Given the description of an element on the screen output the (x, y) to click on. 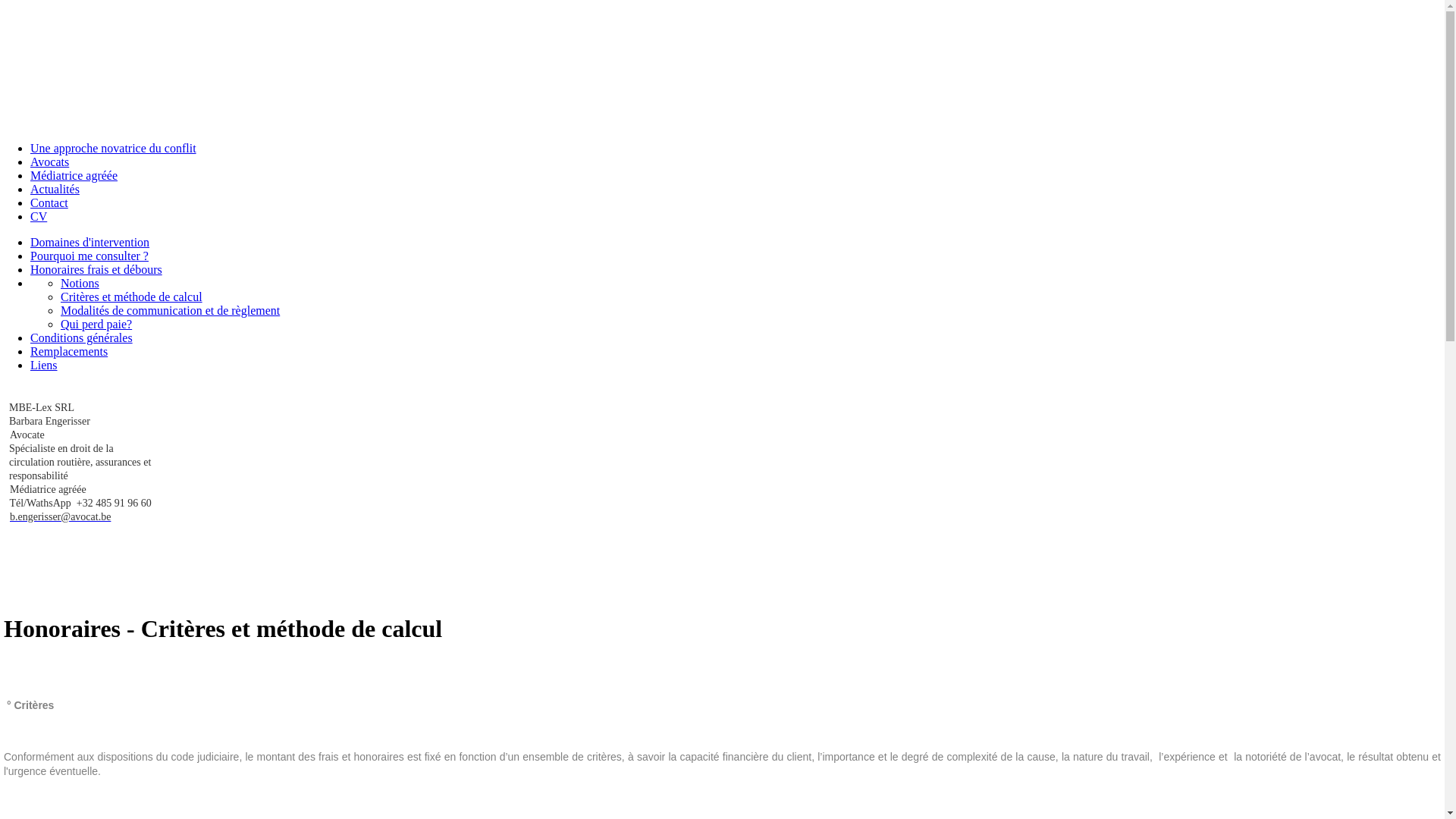
Une approche novatrice du conflit Element type: text (113, 147)
Qui perd paie? Element type: text (95, 323)
CV Element type: text (38, 216)
Notions Element type: text (79, 282)
Liens Element type: text (43, 364)
Pourquoi me consulter ? Element type: text (89, 255)
Remplacements Element type: text (68, 351)
b.engerisser@avocat.be Element type: text (59, 516)
Domaines d'intervention Element type: text (89, 241)
Contact Element type: text (49, 202)
Avocats Element type: text (49, 161)
